Given the description of an element on the screen output the (x, y) to click on. 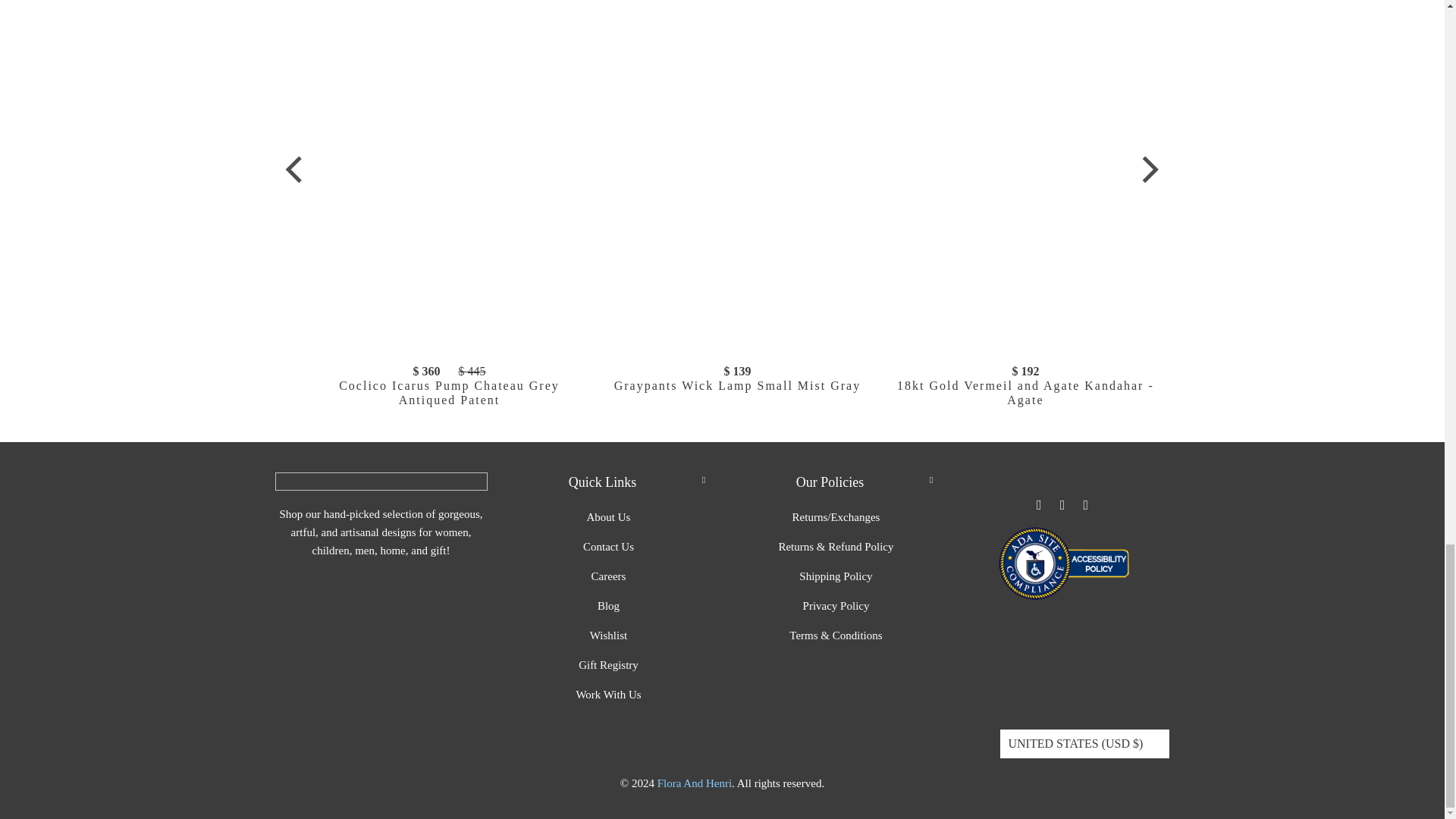
flora and henri (695, 783)
